Given the description of an element on the screen output the (x, y) to click on. 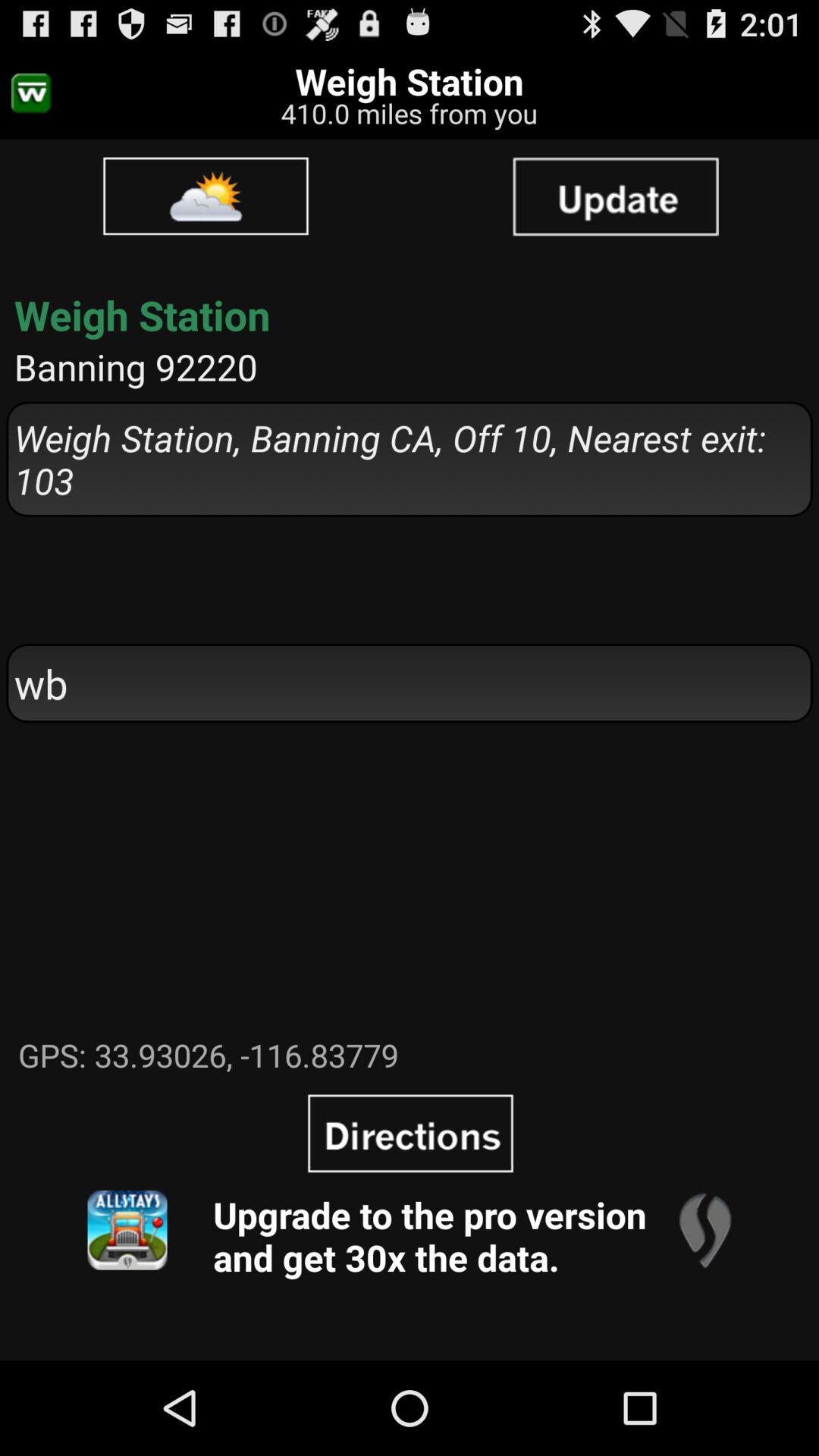
press the app next to the upgrade to the app (704, 1230)
